Given the description of an element on the screen output the (x, y) to click on. 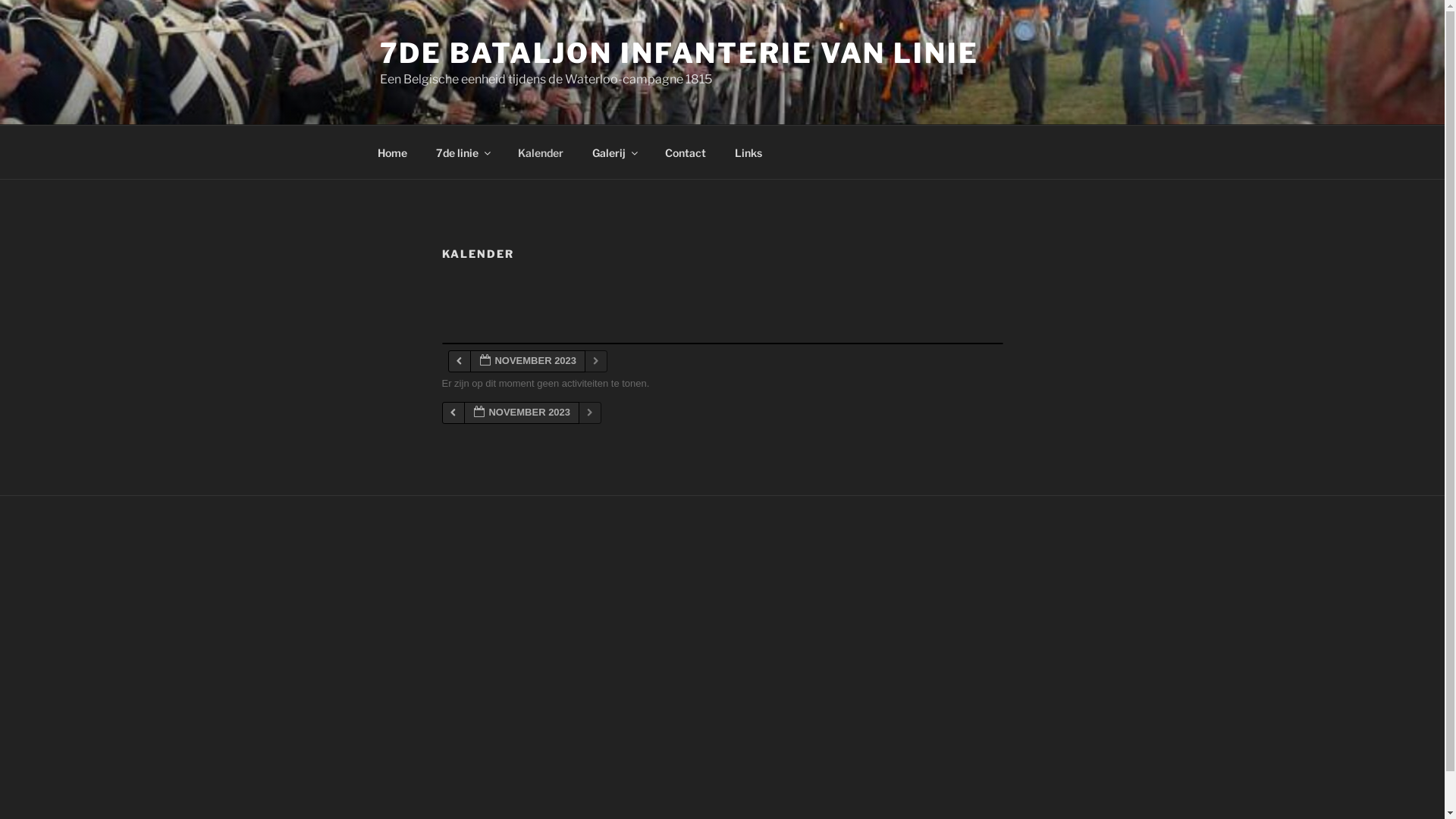
NOVEMBER 2023 Element type: text (528, 361)
NOVEMBER 2023 Element type: text (522, 412)
Galerij Element type: text (614, 151)
Home Element type: text (392, 151)
Links Element type: text (748, 151)
Contact Element type: text (685, 151)
7DE BATALJON INFANTERIE VAN LINIE Element type: text (678, 52)
Kalender Element type: text (541, 151)
7de linie Element type: text (462, 151)
